Given the description of an element on the screen output the (x, y) to click on. 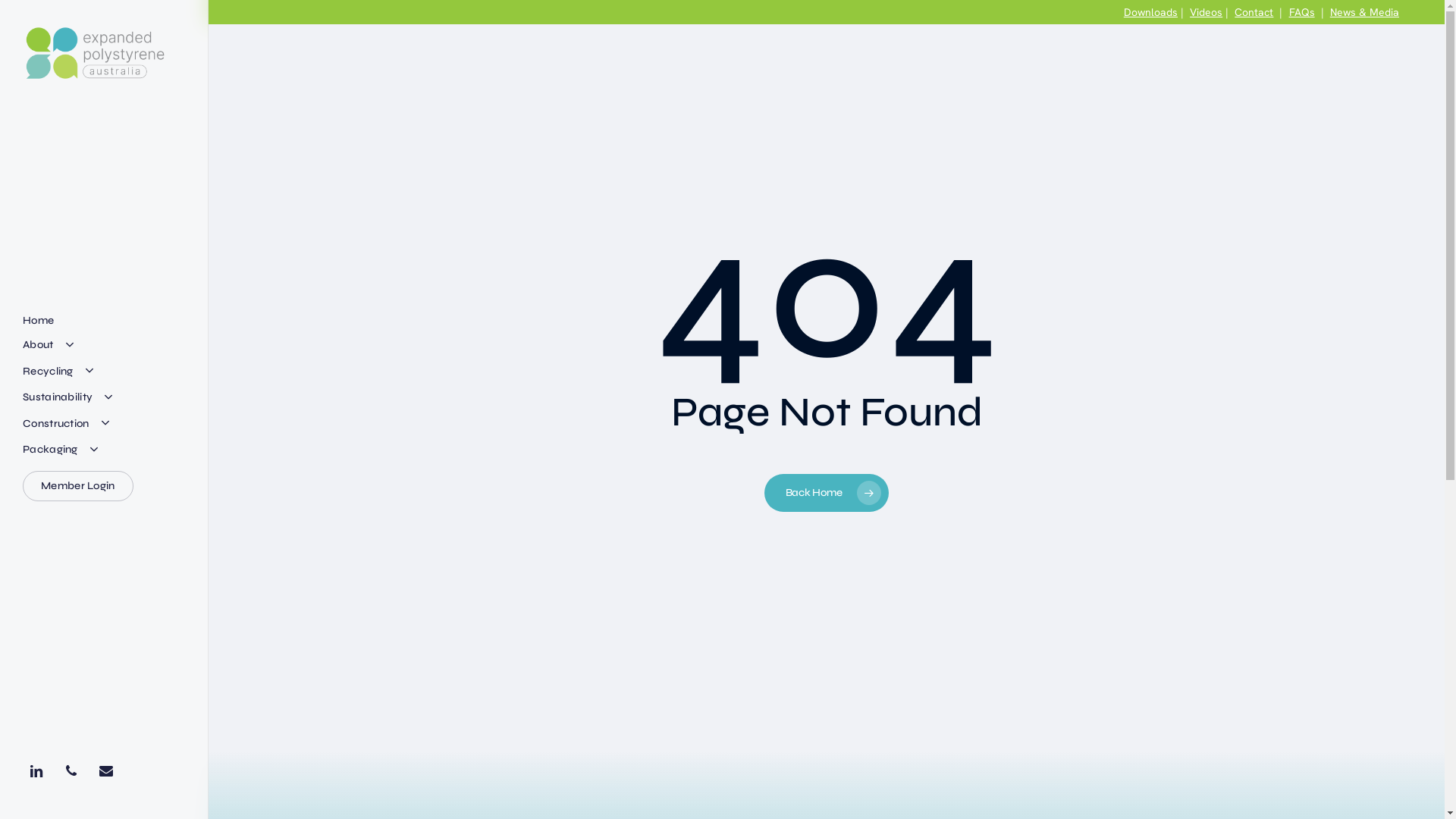
Packaging Element type: text (61, 449)
Videos Element type: text (1205, 11)
FAQs Element type: text (1301, 11)
Contact Element type: text (1253, 11)
phone Element type: text (74, 770)
Sustainability Element type: text (68, 397)
email Element type: text (109, 770)
Home Element type: text (37, 320)
Recycling Element type: text (58, 371)
Downloads Element type: text (1150, 11)
linkedin Element type: text (39, 770)
Back Home Element type: text (826, 492)
About Element type: text (48, 345)
Member Login Element type: text (77, 485)
Construction Element type: text (66, 424)
News & Media Element type: text (1364, 11)
